Given the description of an element on the screen output the (x, y) to click on. 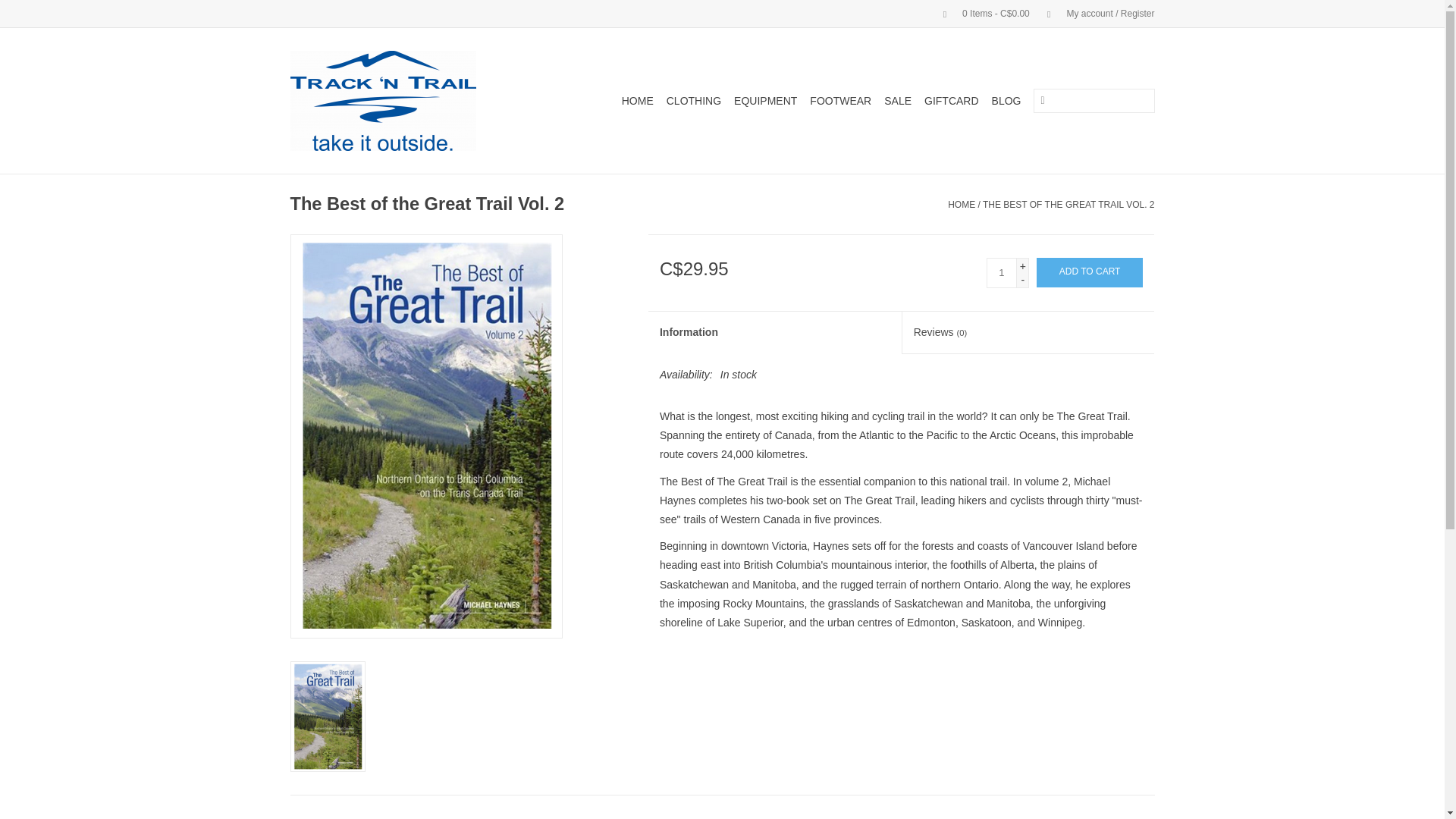
CLOTHING (693, 100)
Clothing (693, 100)
Track 'N Trail (400, 100)
HOME (637, 100)
My account (1093, 13)
EQUIPMENT (765, 100)
1 (1001, 272)
Cart (980, 13)
